Given the description of an element on the screen output the (x, y) to click on. 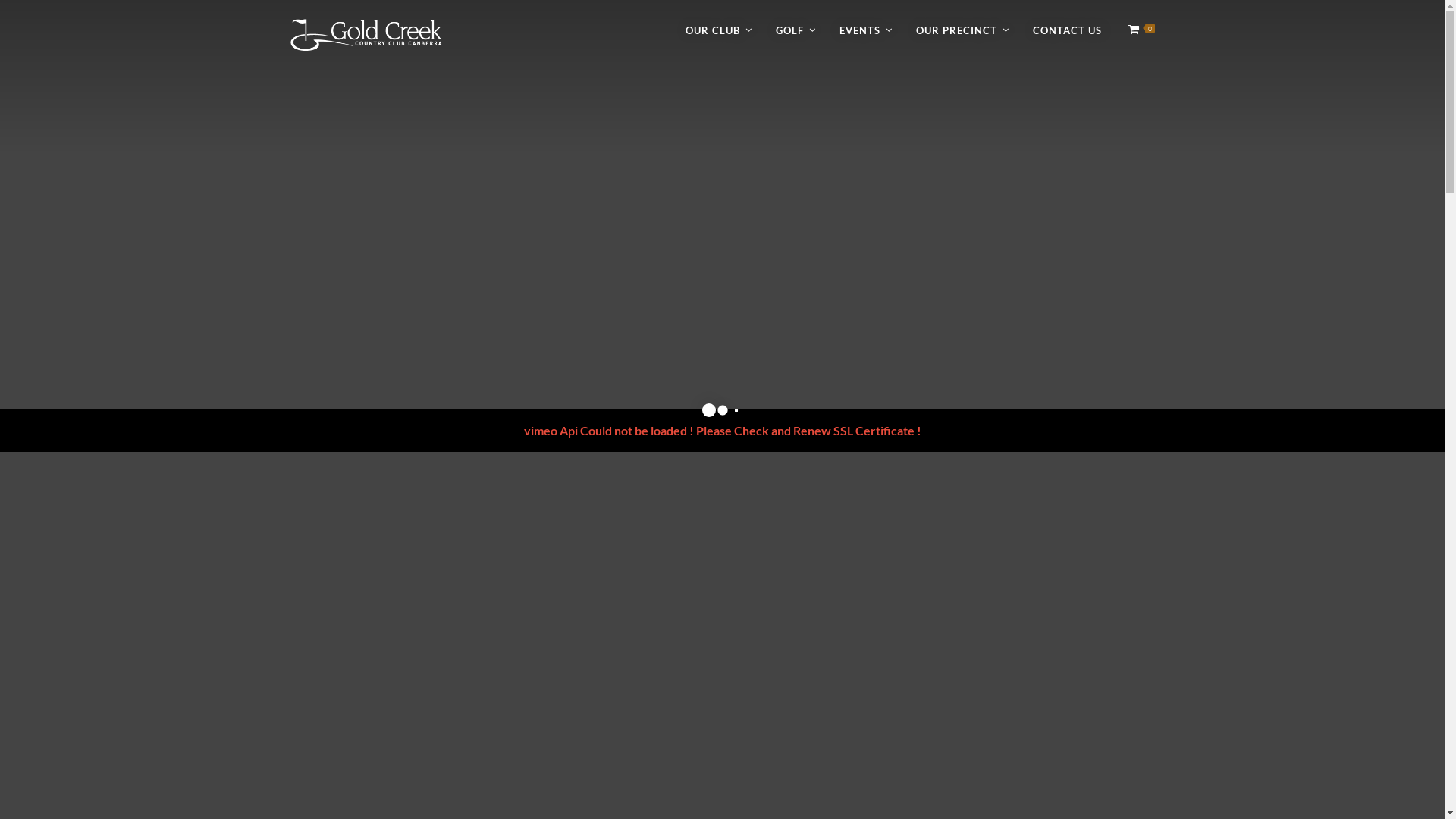
EVENTS Element type: text (861, 30)
OUR CLUB Element type: text (715, 30)
CONTACT US Element type: text (1067, 30)
OUR PRECINCT Element type: text (958, 30)
Gold Creek Country Club Element type: hover (365, 34)
GOLF Element type: text (791, 30)
0 Element type: text (1135, 30)
